Given the description of an element on the screen output the (x, y) to click on. 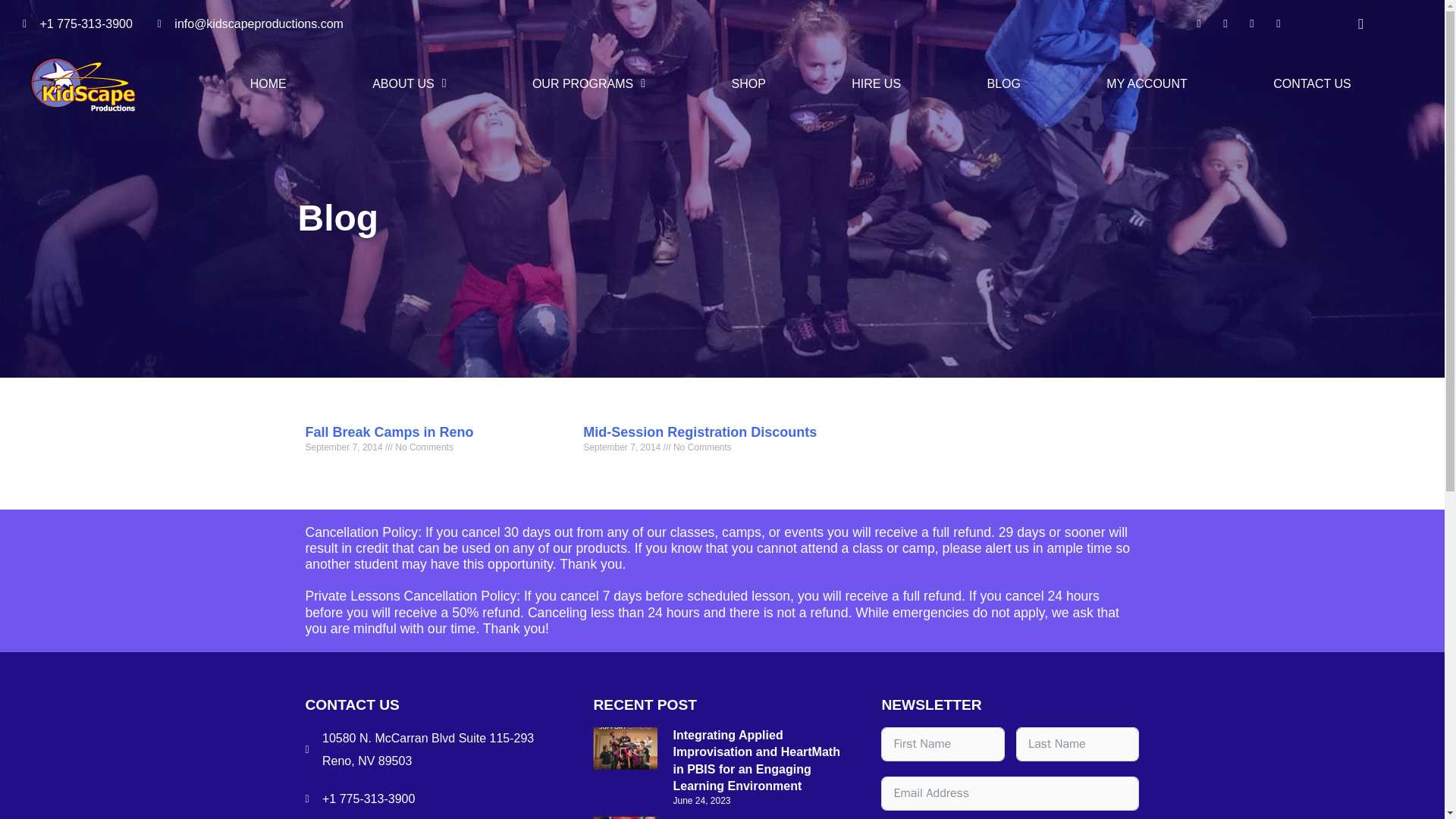
SHOP (748, 83)
HOME (267, 83)
BLOG (1003, 83)
ABOUT US (408, 83)
OUR PROGRAMS (588, 83)
Youtube (1251, 24)
Twitter (1225, 24)
CONTACT US (1312, 83)
MY ACCOUNT (1146, 83)
Linkedin-in (1278, 24)
Facebook-f (1198, 24)
HIRE US (875, 83)
CART (1360, 23)
